Given the description of an element on the screen output the (x, y) to click on. 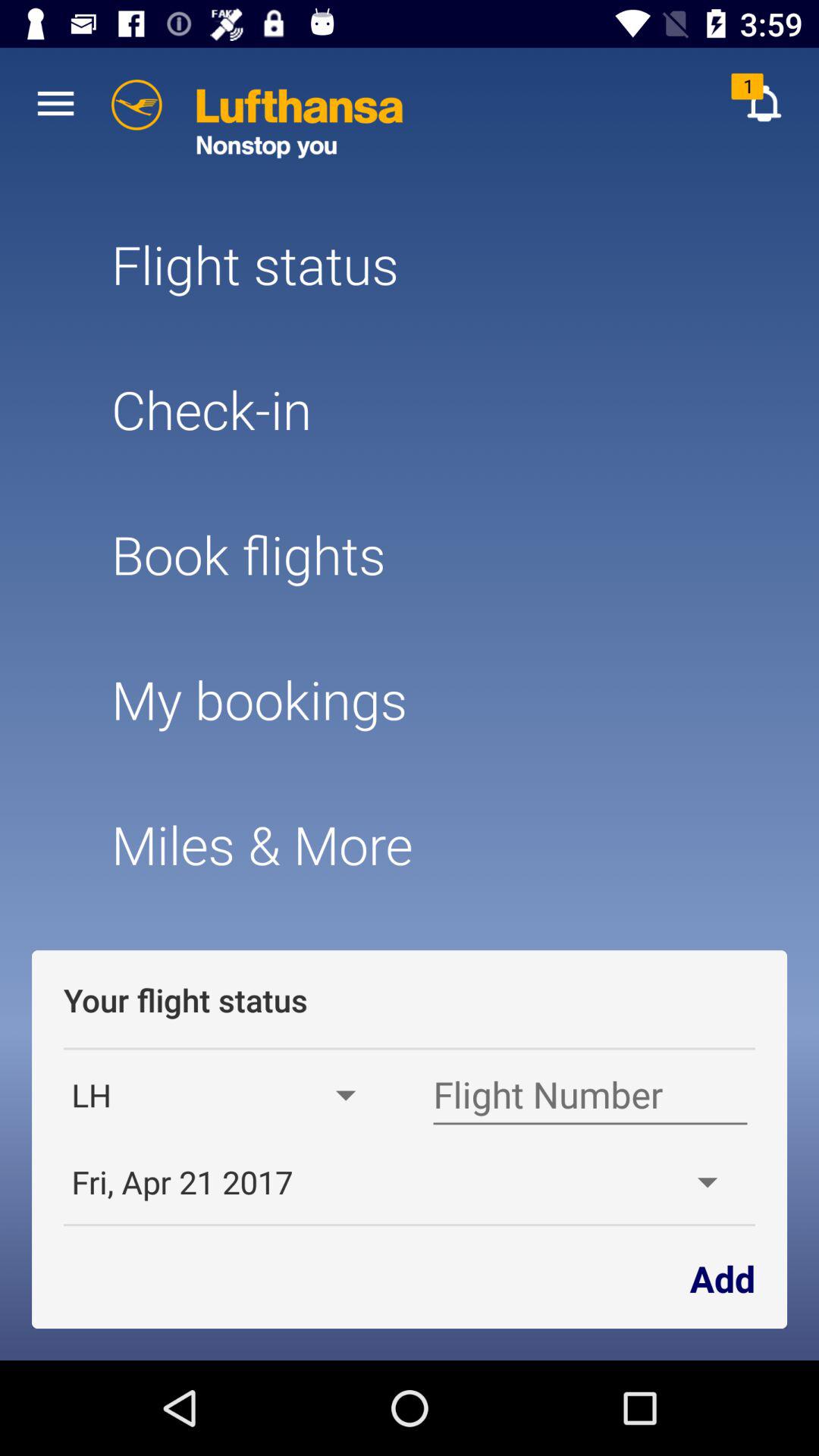
text box for flight number (590, 1094)
